Given the description of an element on the screen output the (x, y) to click on. 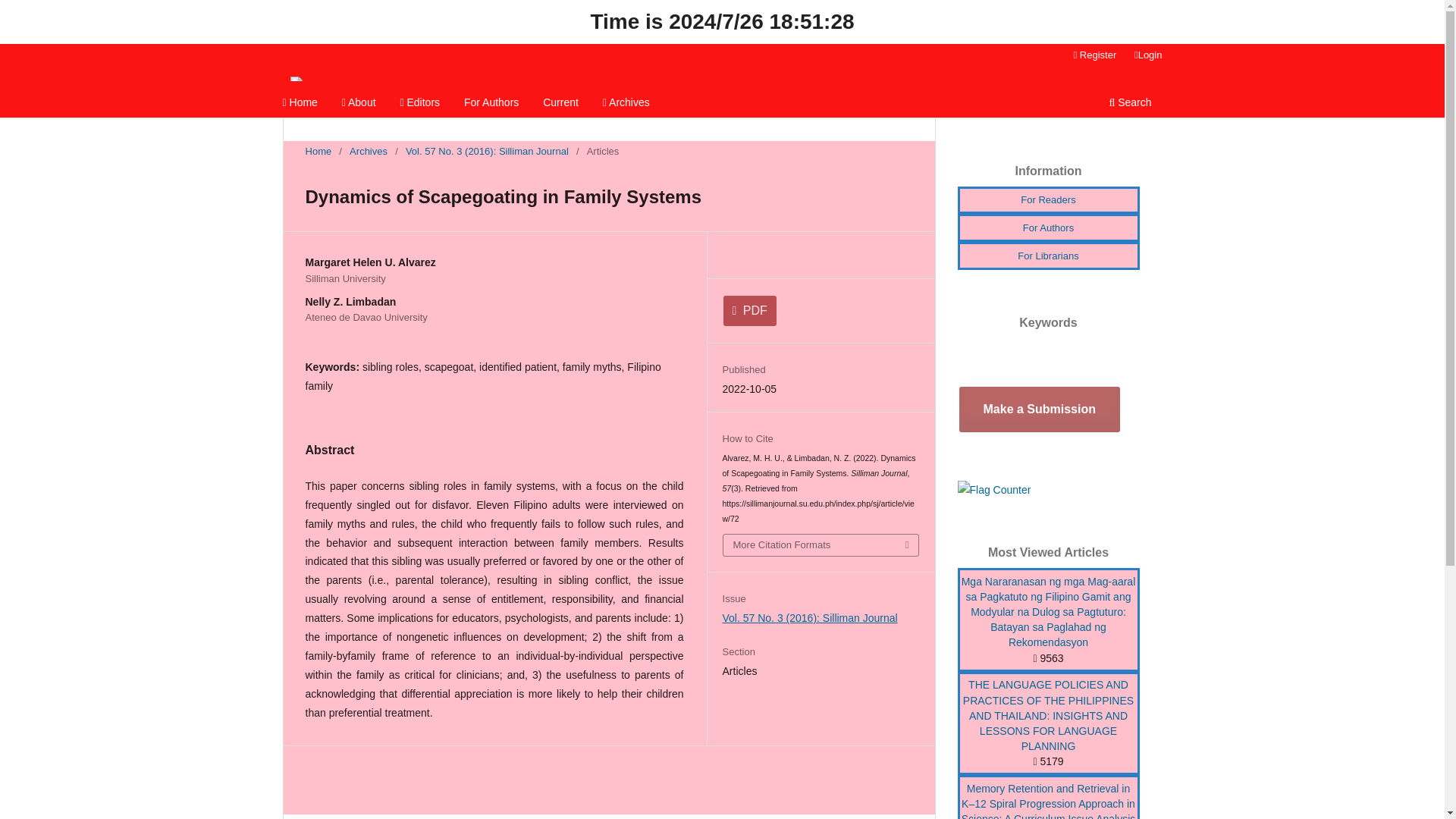
Home (300, 103)
For Authors (491, 103)
About (358, 103)
Register (1094, 55)
PDF (749, 310)
More Citation Formats (820, 545)
Editors (419, 103)
Archives (625, 103)
Home (317, 151)
Login (1148, 55)
Current (560, 103)
Search (1129, 103)
Archives (368, 151)
